Given the description of an element on the screen output the (x, y) to click on. 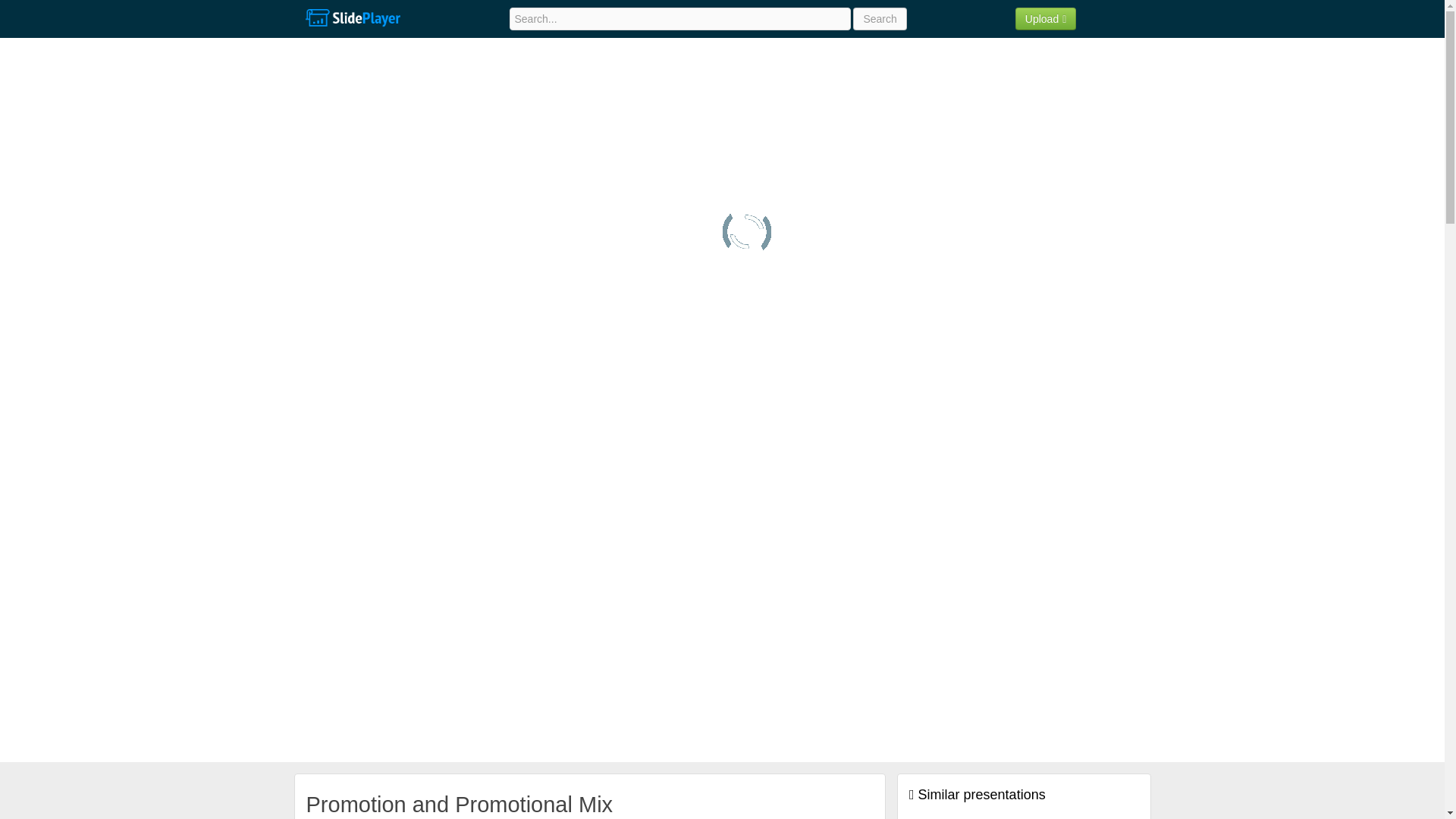
Search (879, 18)
Presentation is loading. Please wait. (746, 232)
SlidePlayer (352, 18)
Upload (1045, 18)
